Given the description of an element on the screen output the (x, y) to click on. 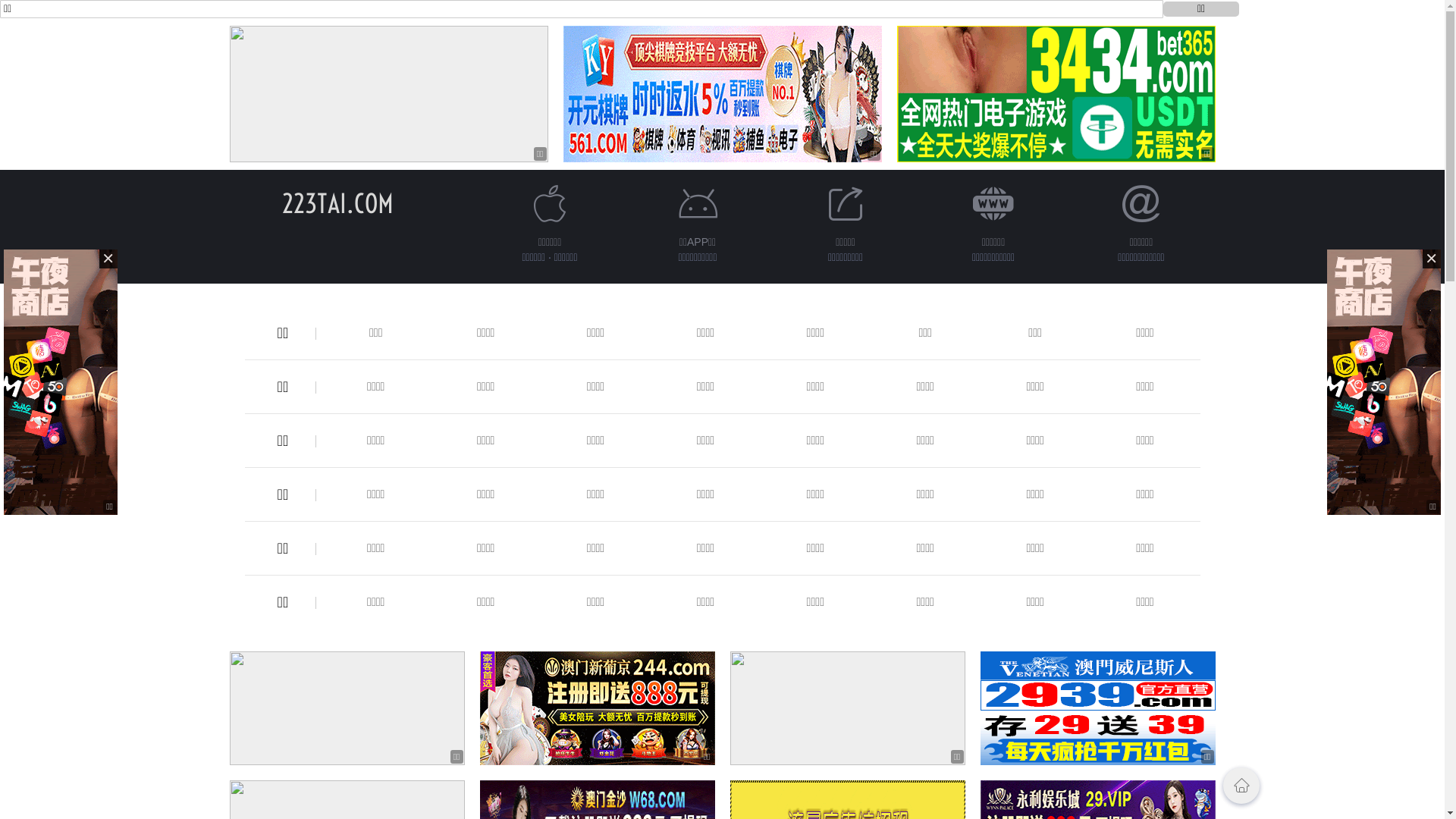
223TAI.COM Element type: text (337, 203)
